Given the description of an element on the screen output the (x, y) to click on. 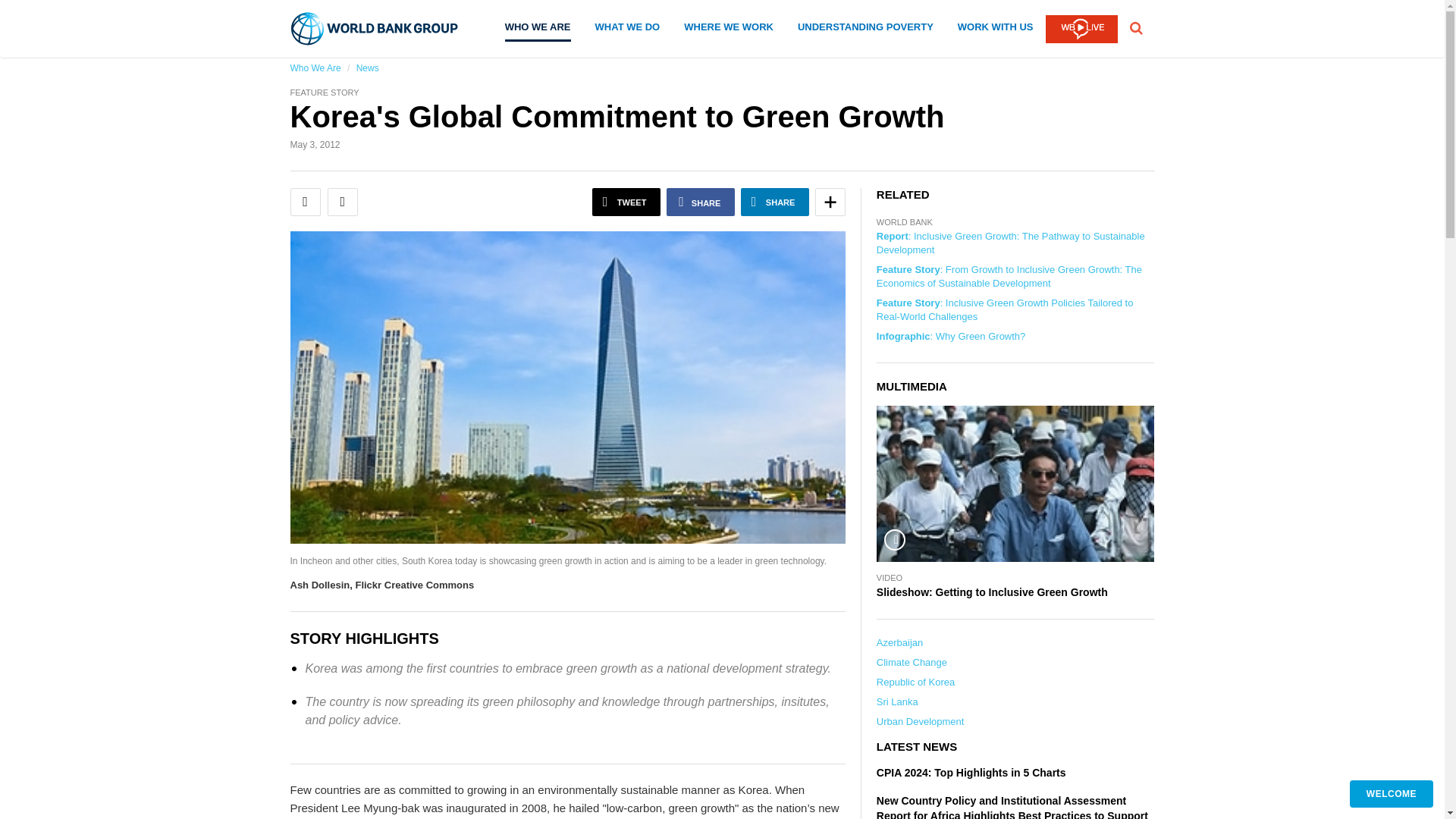
WHO WE ARE (537, 31)
Print (342, 202)
Tweet (626, 202)
Search (1135, 33)
Share (775, 202)
Share (830, 202)
The World Bank Working for a World Free of Poverty (374, 28)
Email (304, 202)
Facebook (700, 202)
WHAT WE DO (628, 30)
